Given the description of an element on the screen output the (x, y) to click on. 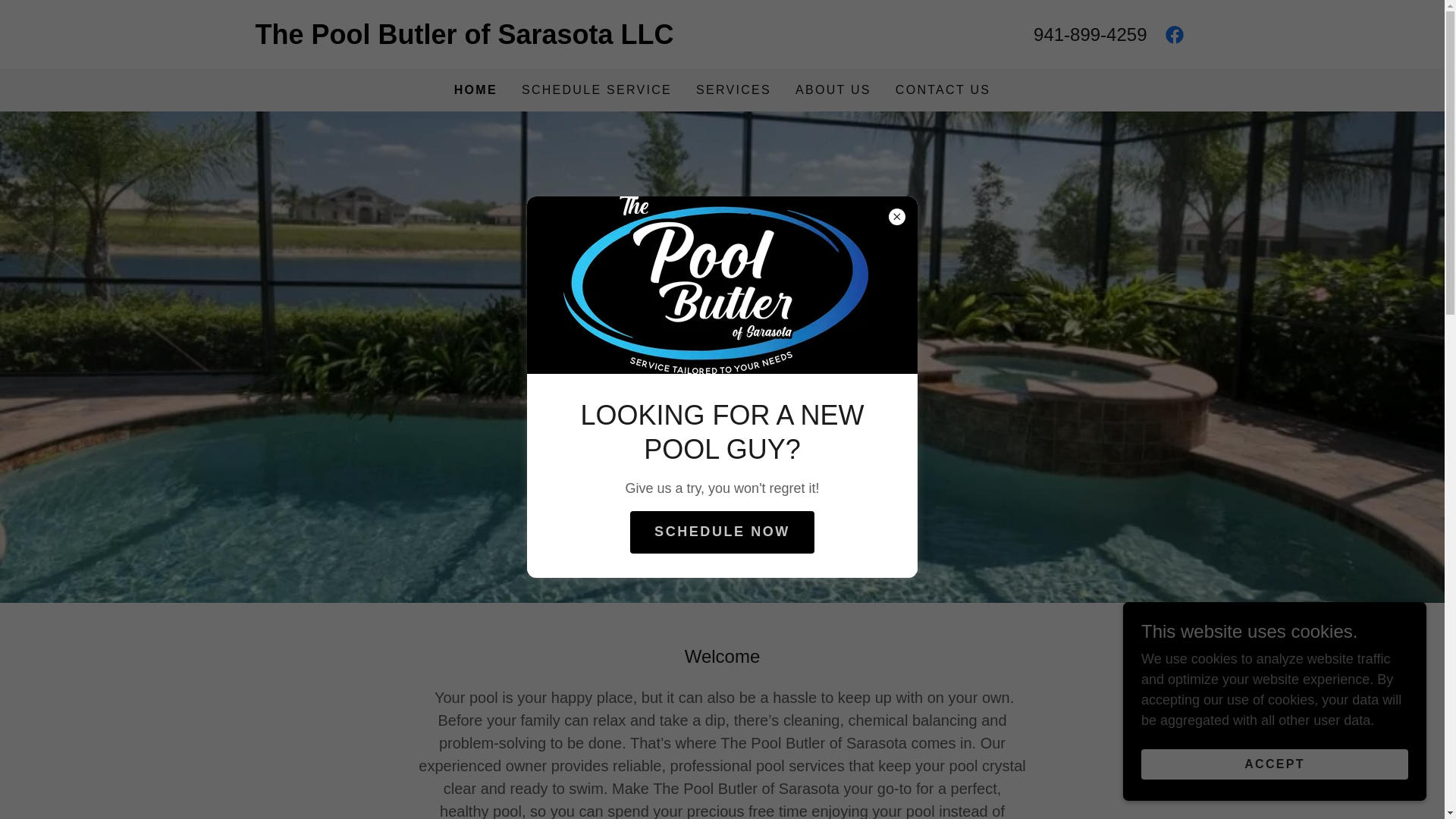
ABOUT US (833, 90)
HOME (475, 90)
The Pool Butler of Sarasota LLC (488, 38)
SCHEDULE SERVICE (596, 90)
941-899-4259 (1090, 34)
The Pool Butler of Sarasota LLC (488, 38)
ACCEPT (1274, 764)
SCHEDULE NOW (721, 532)
SERVICES (733, 90)
CONTACT US (942, 90)
